Given the description of an element on the screen output the (x, y) to click on. 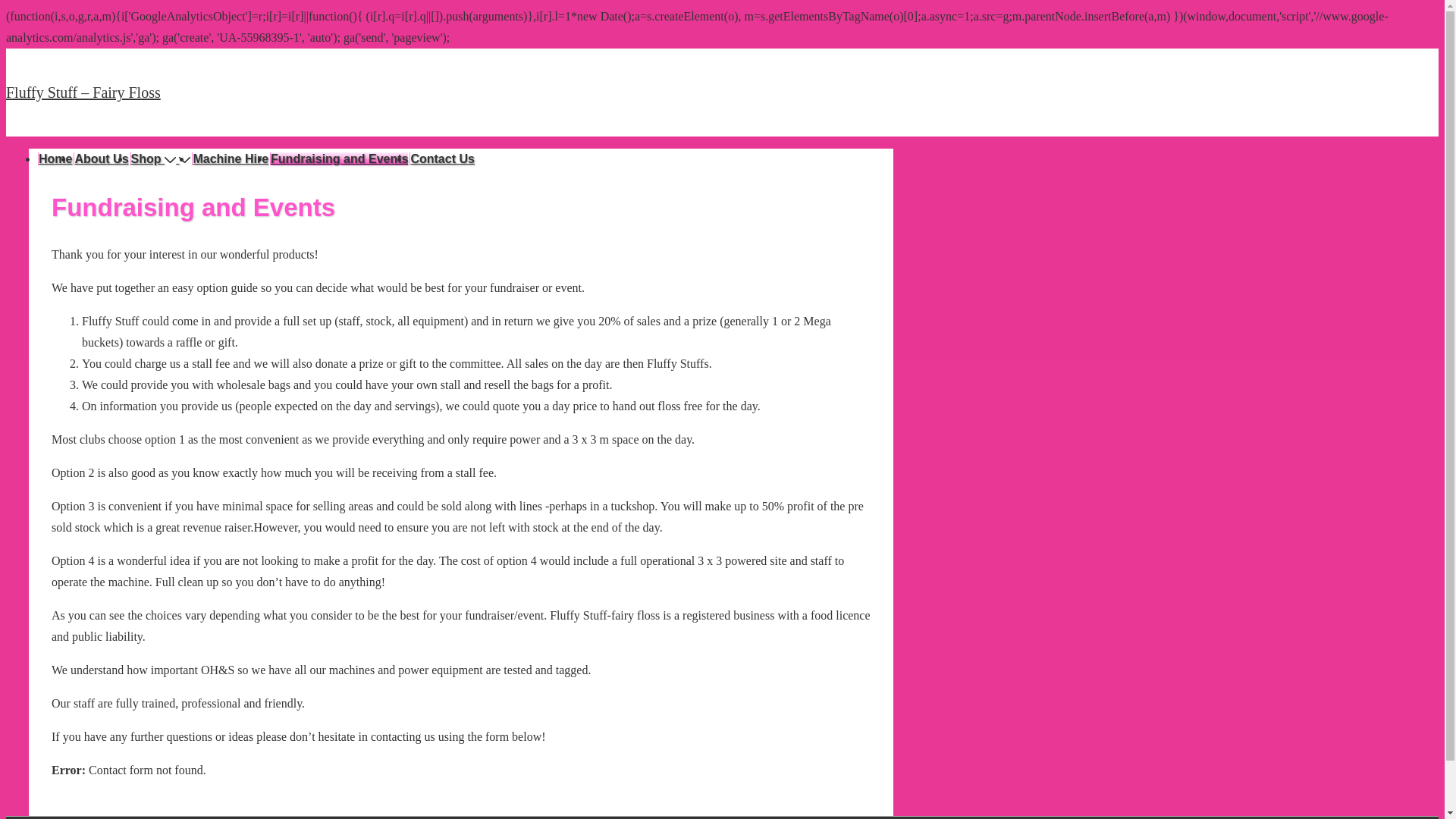
Contact Us Element type: text (441, 158)
Machine Hire Element type: text (229, 158)
About Us Element type: text (100, 158)
Shop Element type: text (154, 158)
Fundraising and Events Element type: text (338, 158)
Home Element type: text (54, 158)
